Given the description of an element on the screen output the (x, y) to click on. 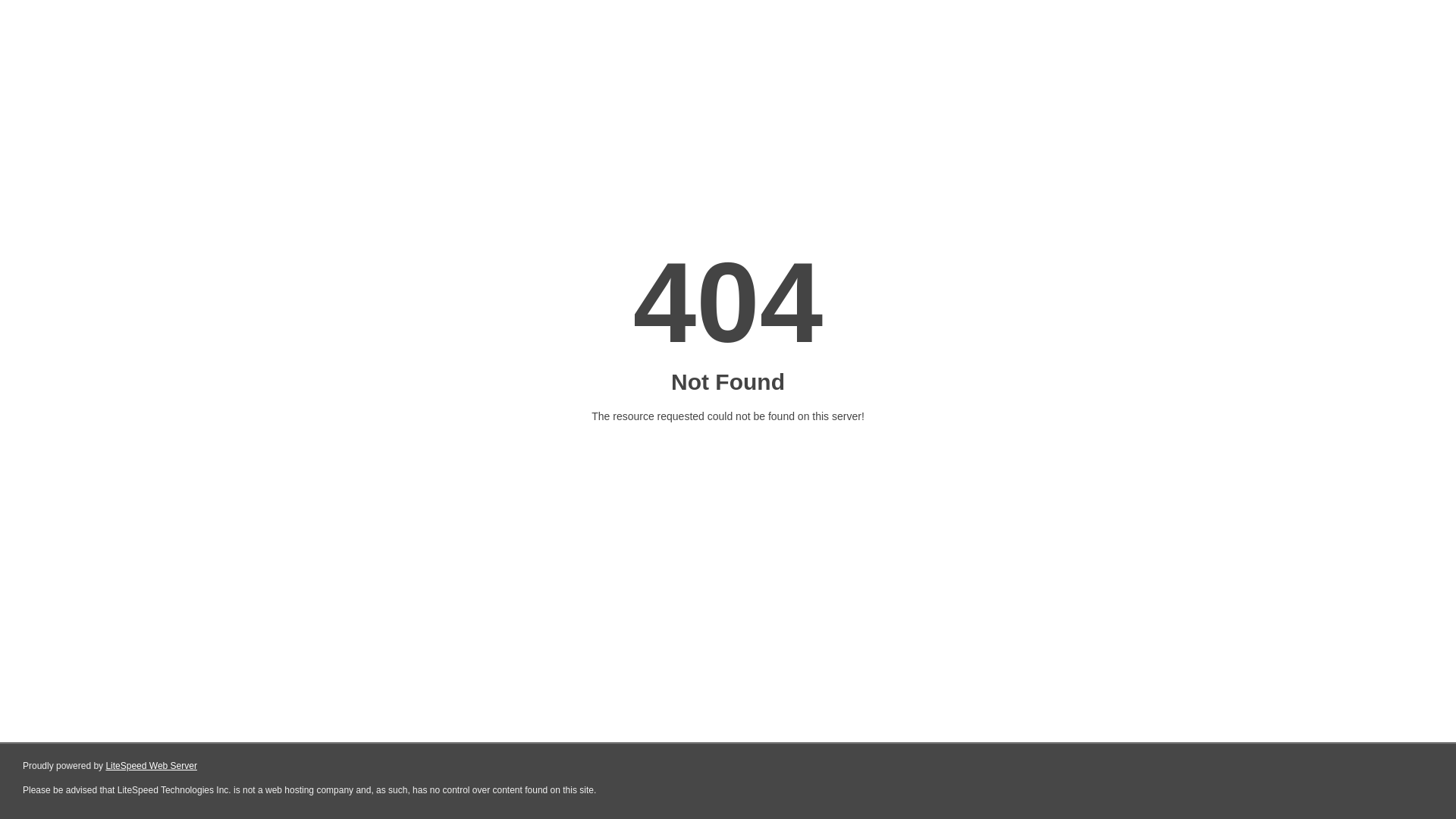
LiteSpeed Web Server Element type: text (151, 765)
